Given the description of an element on the screen output the (x, y) to click on. 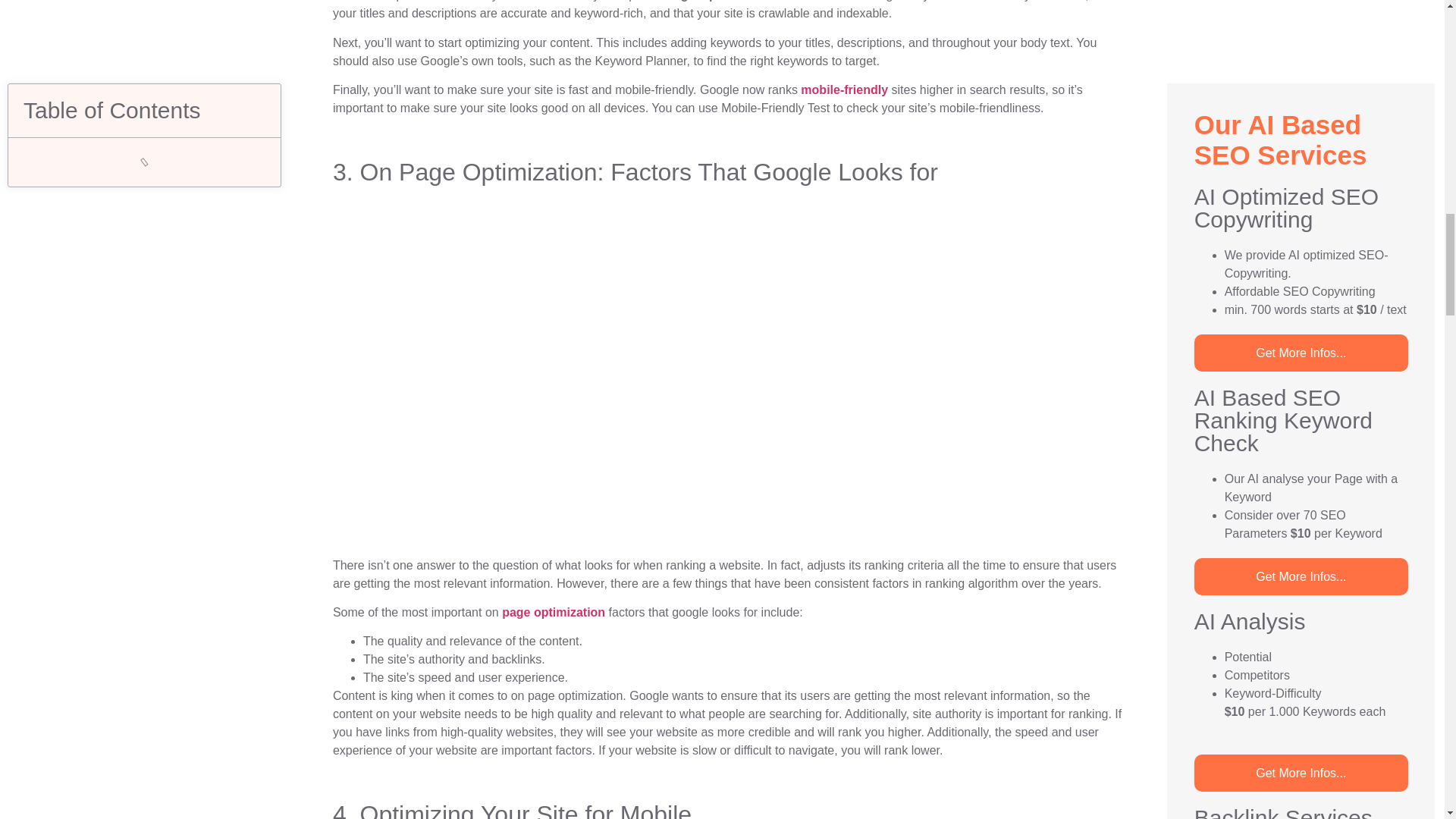
SEO Consulting? (1300, 361)
Get More Infos... (1300, 9)
page optimization (553, 612)
mobile-friendly (844, 89)
